Given the description of an element on the screen output the (x, y) to click on. 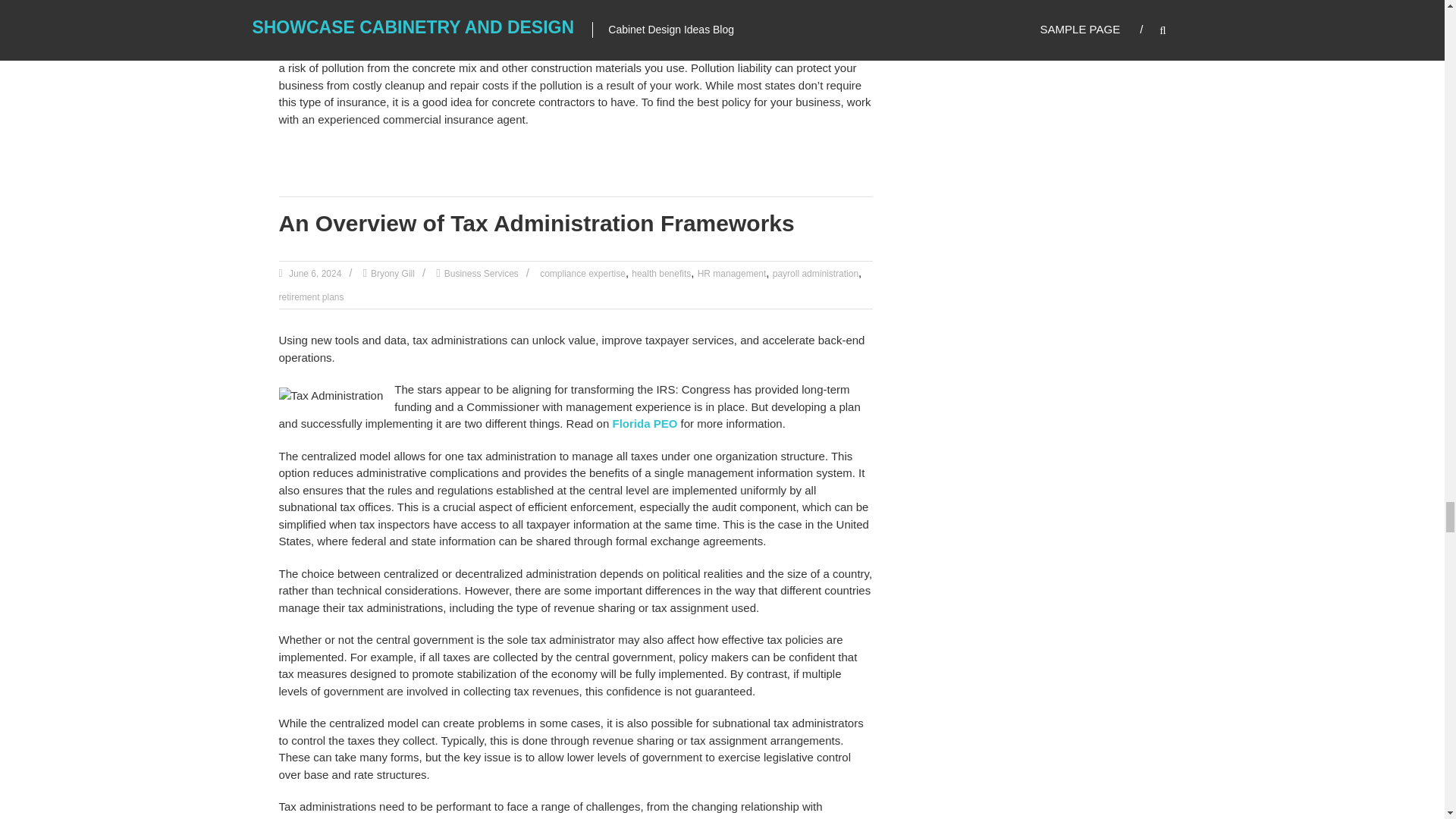
health benefits (660, 273)
compliance expertise (583, 273)
June 6, 2024 (314, 273)
Business Services (481, 273)
An Overview of Tax Administration Frameworks (536, 222)
Bryony Gill (392, 273)
